Given the description of an element on the screen output the (x, y) to click on. 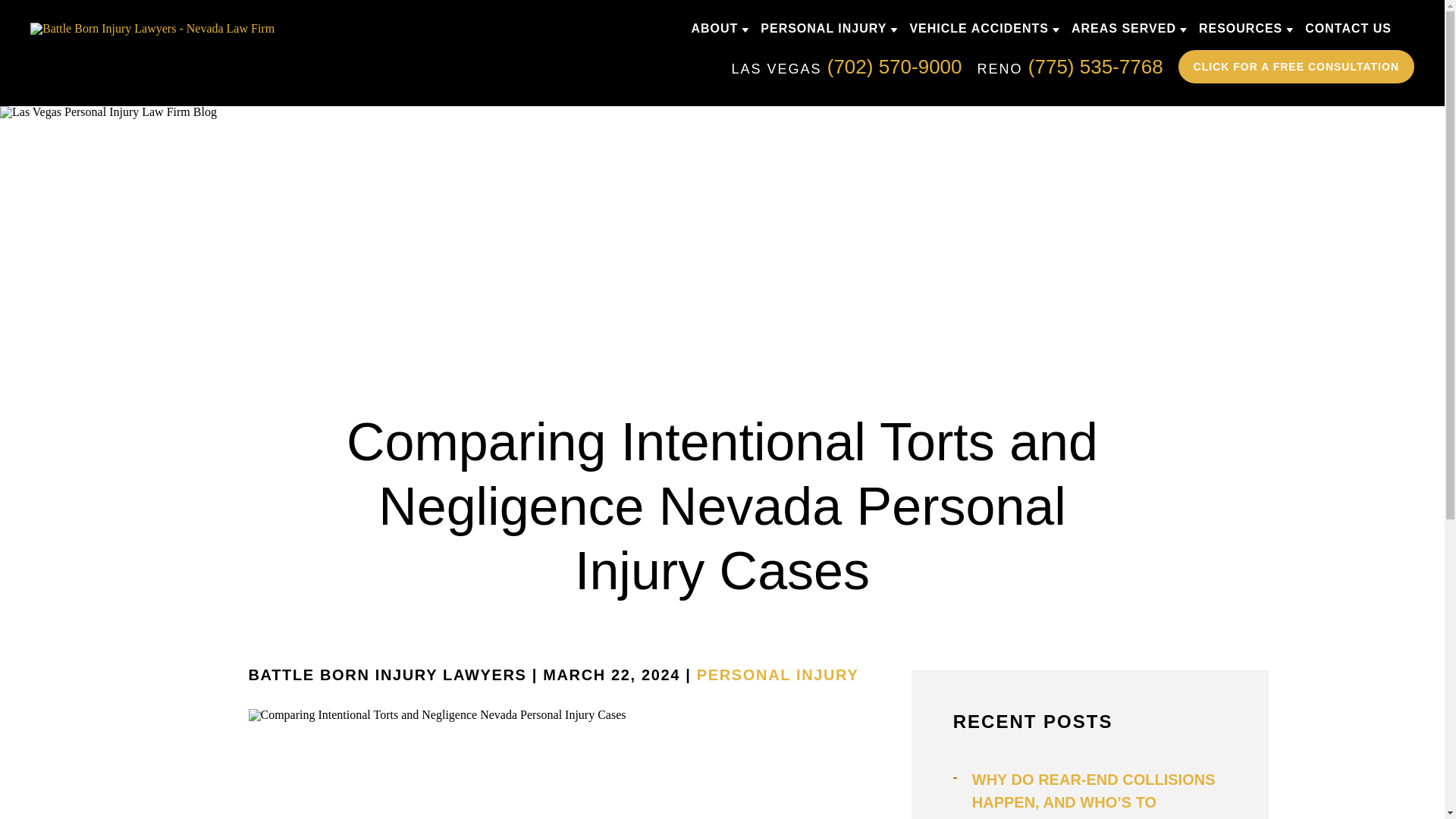
PERSONAL INJURY (778, 674)
VEHICLE ACCIDENTS (978, 28)
CLICK FOR A FREE CONSULTATION (1295, 66)
CONTACT US (1347, 28)
AREAS SERVED (1123, 28)
ABOUT (714, 28)
PERSONAL INJURY (823, 28)
RESOURCES (1240, 28)
